Given the description of an element on the screen output the (x, y) to click on. 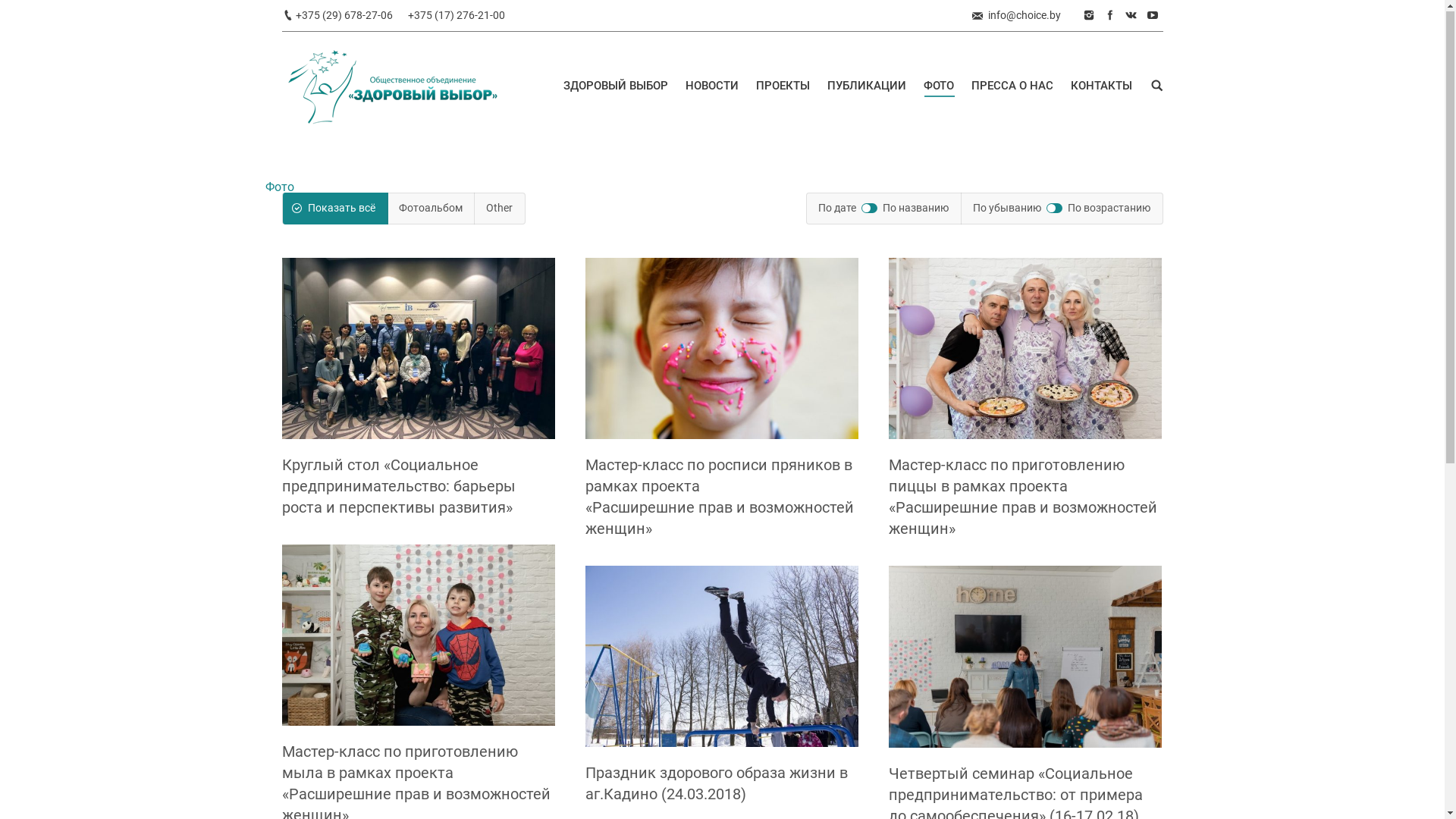
Instagram Element type: hover (1088, 15)
info@choice.by Element type: text (1023, 15)
+375 (17) 276-21-00 Element type: text (456, 15)
YouTube Element type: hover (1152, 15)
Other Element type: text (498, 209)
Go! Element type: text (19, 14)
Facebook Element type: hover (1110, 15)
  Element type: text (1157, 85)
+375 (29) 678-27-06 Element type: text (343, 15)
